Given the description of an element on the screen output the (x, y) to click on. 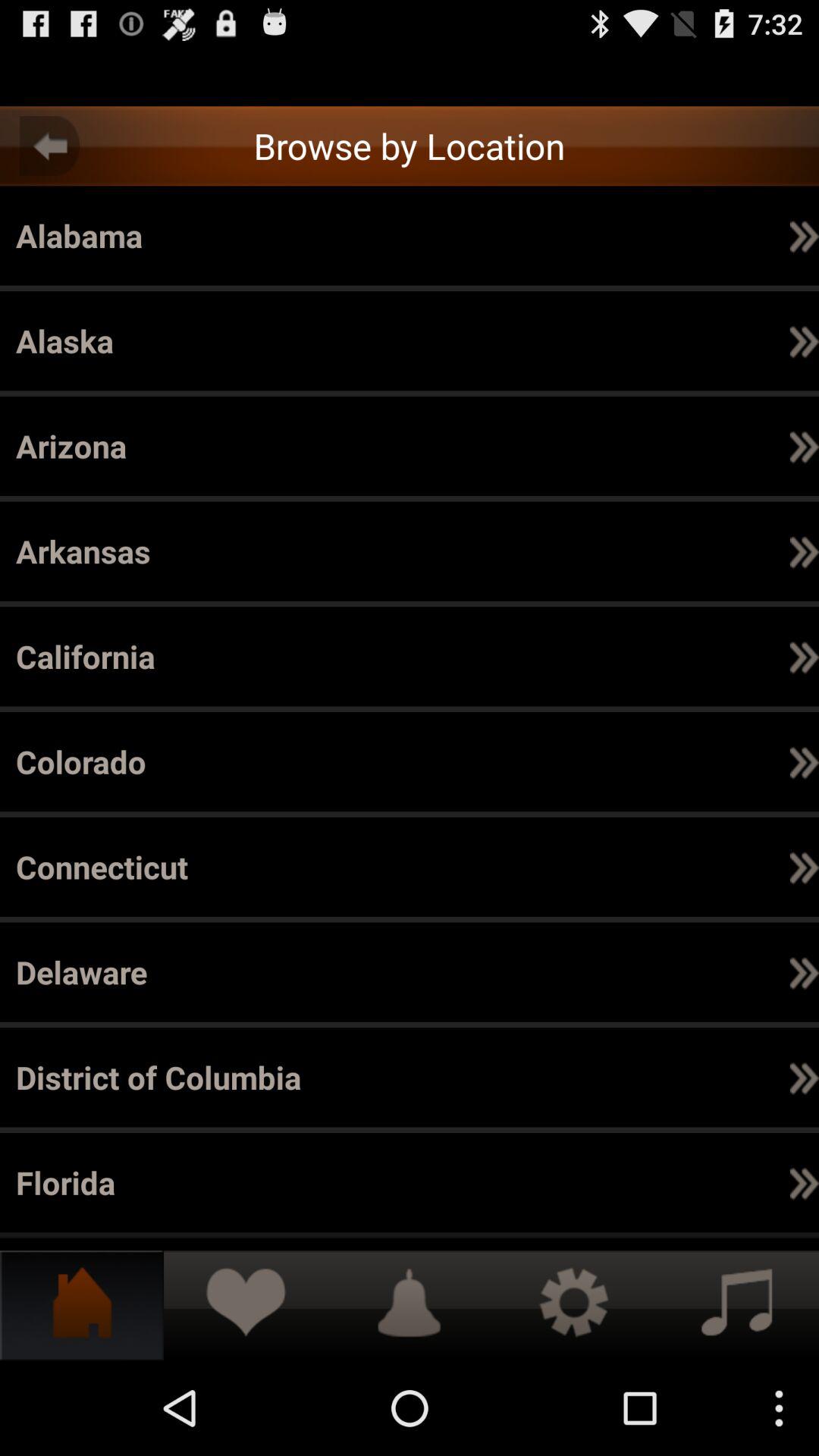
enter location (409, 76)
